Given the description of an element on the screen output the (x, y) to click on. 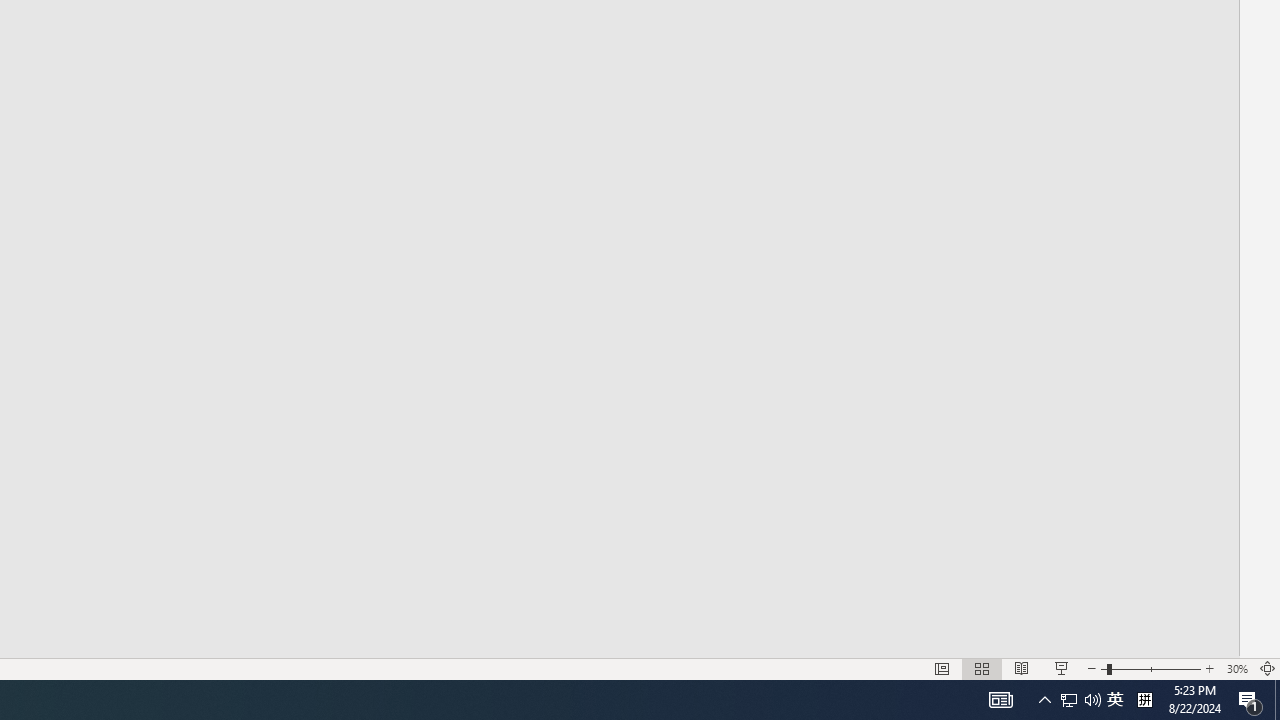
Zoom 30% (1236, 668)
